Given the description of an element on the screen output the (x, y) to click on. 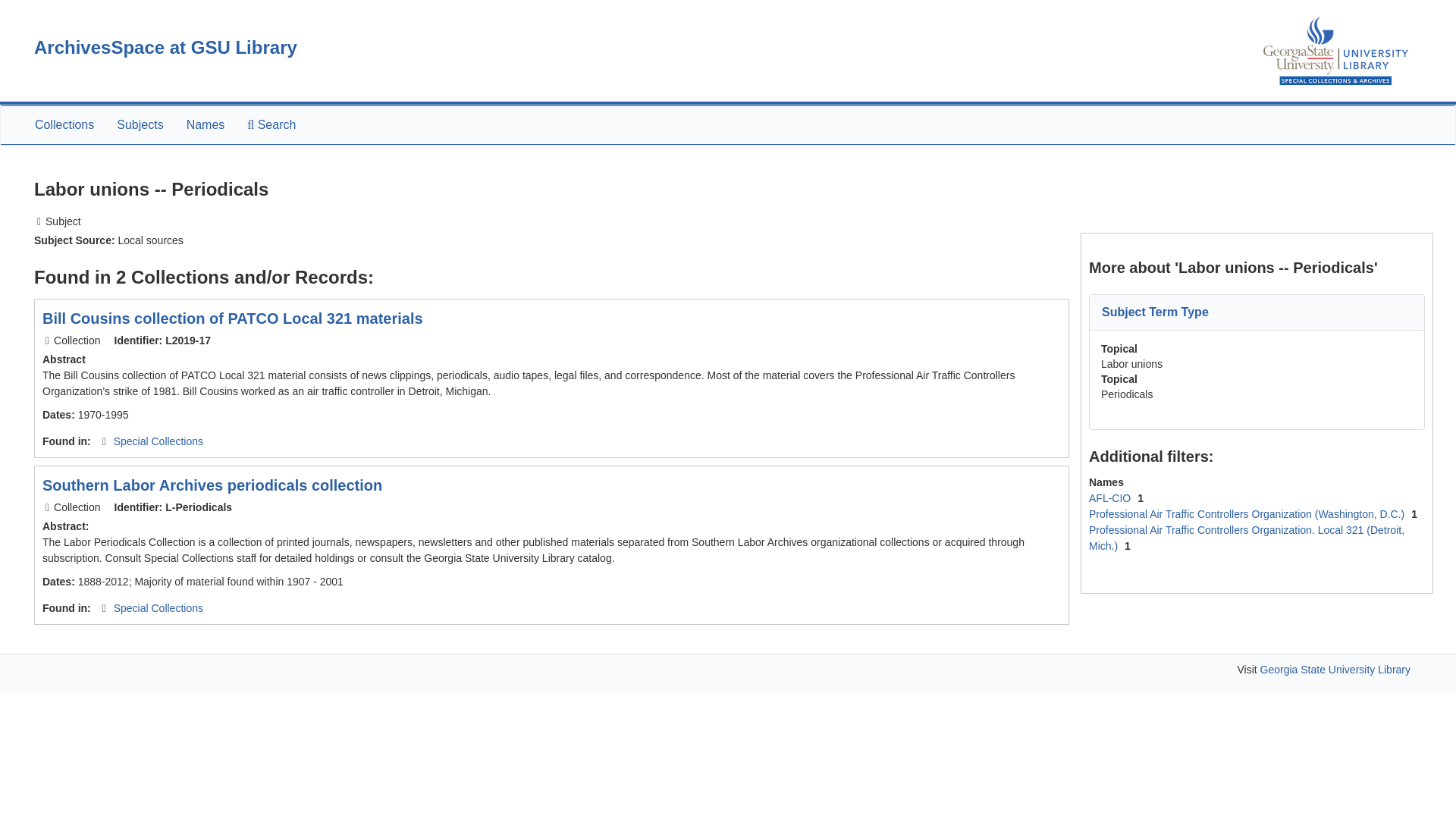
Special Collections (158, 440)
Bill Cousins collection of PATCO Local 321 materials (232, 318)
Search the Archives (271, 125)
Southern Labor Archives periodicals collection (211, 484)
AFL-CIO (1111, 498)
Return to the ArchivesSpace homepage (165, 46)
Special Collections (158, 607)
Page Actions (1139, 168)
ArchivesSpace at GSU Library (165, 46)
Subjects (139, 125)
